Given the description of an element on the screen output the (x, y) to click on. 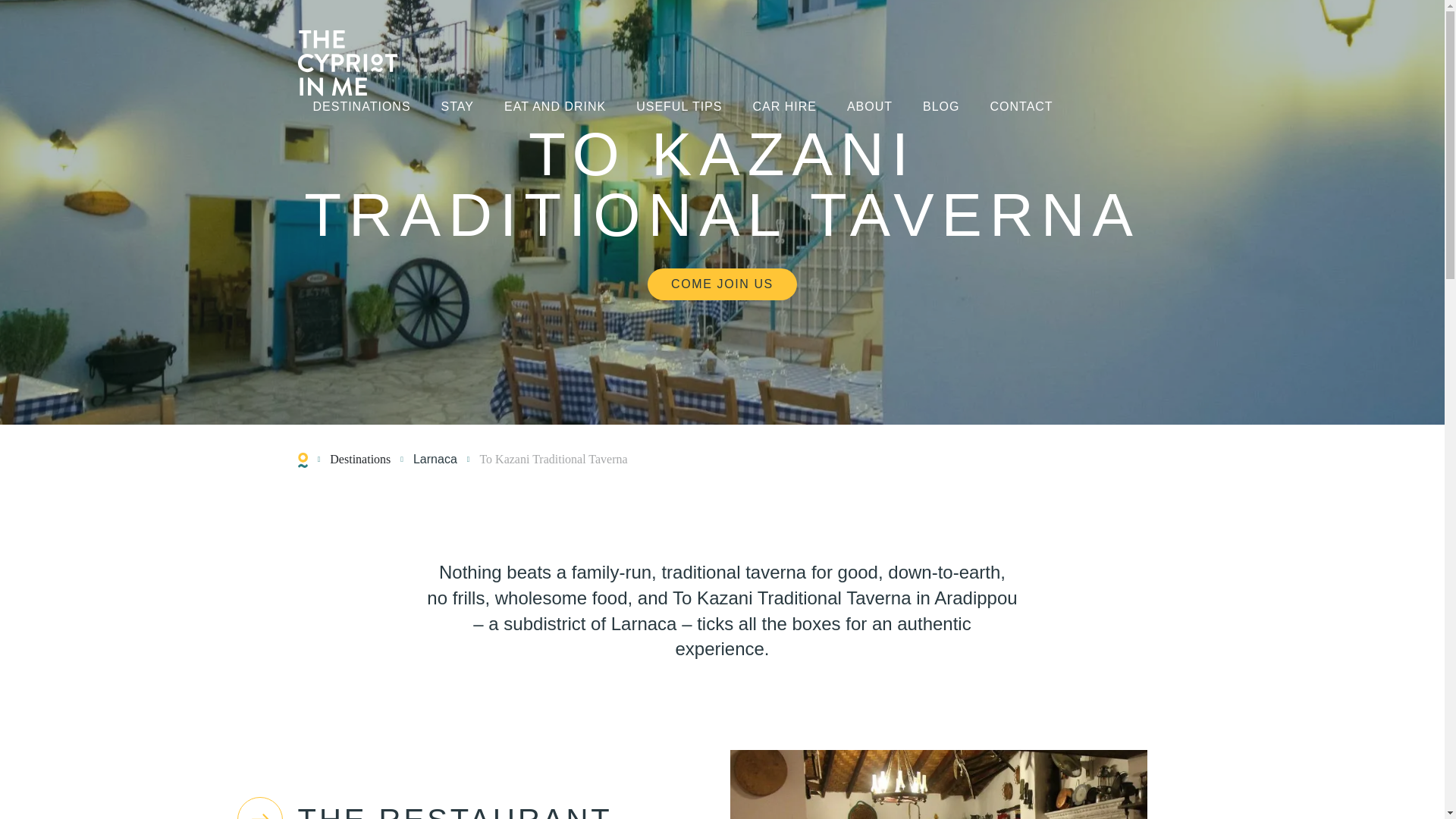
BLOG (941, 107)
Larnaca (435, 459)
EAT AND DRINK (554, 107)
CAR HIRE (783, 107)
CONTACT (1021, 107)
USEFUL TIPS (679, 107)
STAY (457, 107)
ABOUT (869, 107)
DESTINATIONS (361, 107)
COME JOIN US (721, 284)
